Given the description of an element on the screen output the (x, y) to click on. 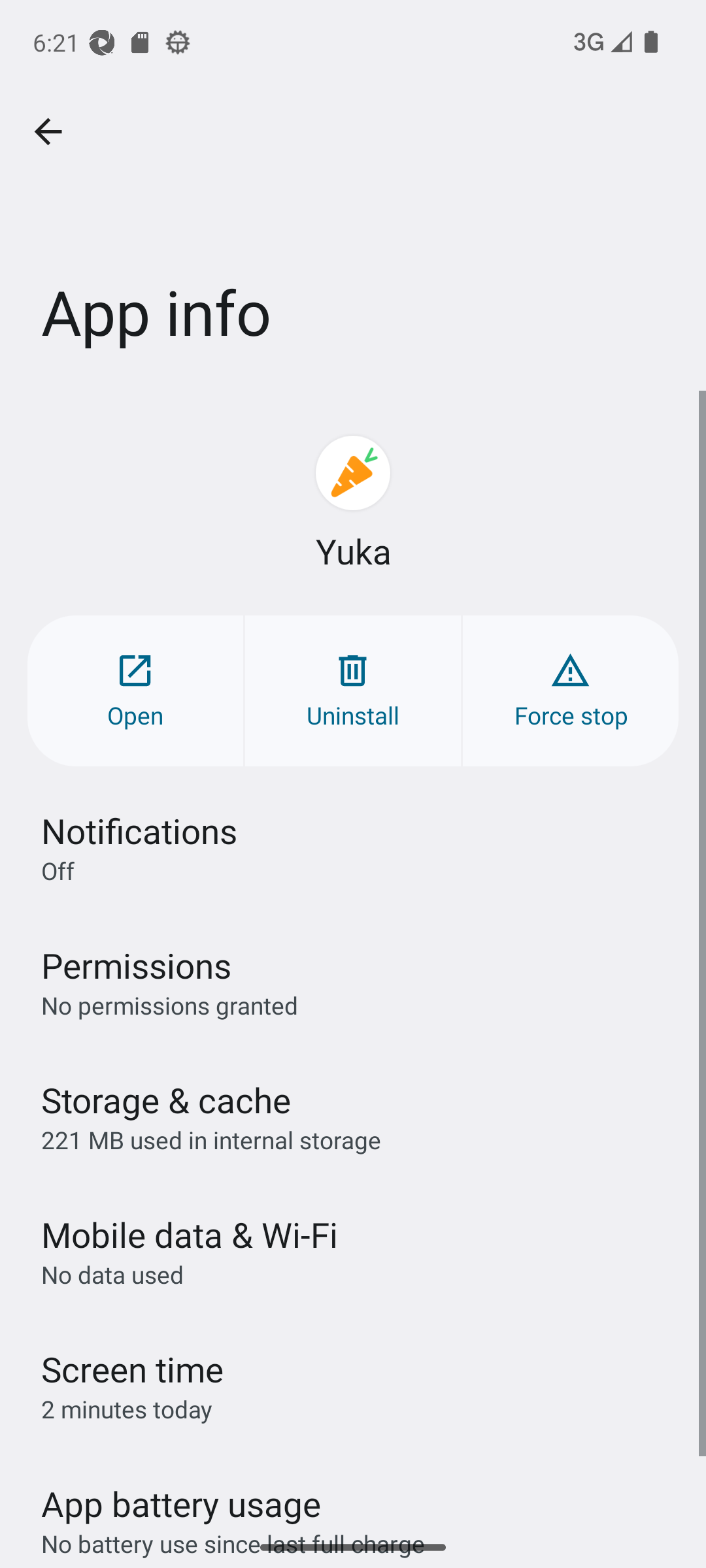
Navigate up (48, 131)
Open (134, 690)
Uninstall (352, 690)
Force stop (570, 690)
Notifications Off (353, 847)
Permissions No permissions granted (353, 981)
Storage & cache 221 MB used in internal storage (353, 1115)
Mobile data & Wi‑Fi No data used (353, 1250)
Screen time 2 minutes today (353, 1385)
